Given the description of an element on the screen output the (x, y) to click on. 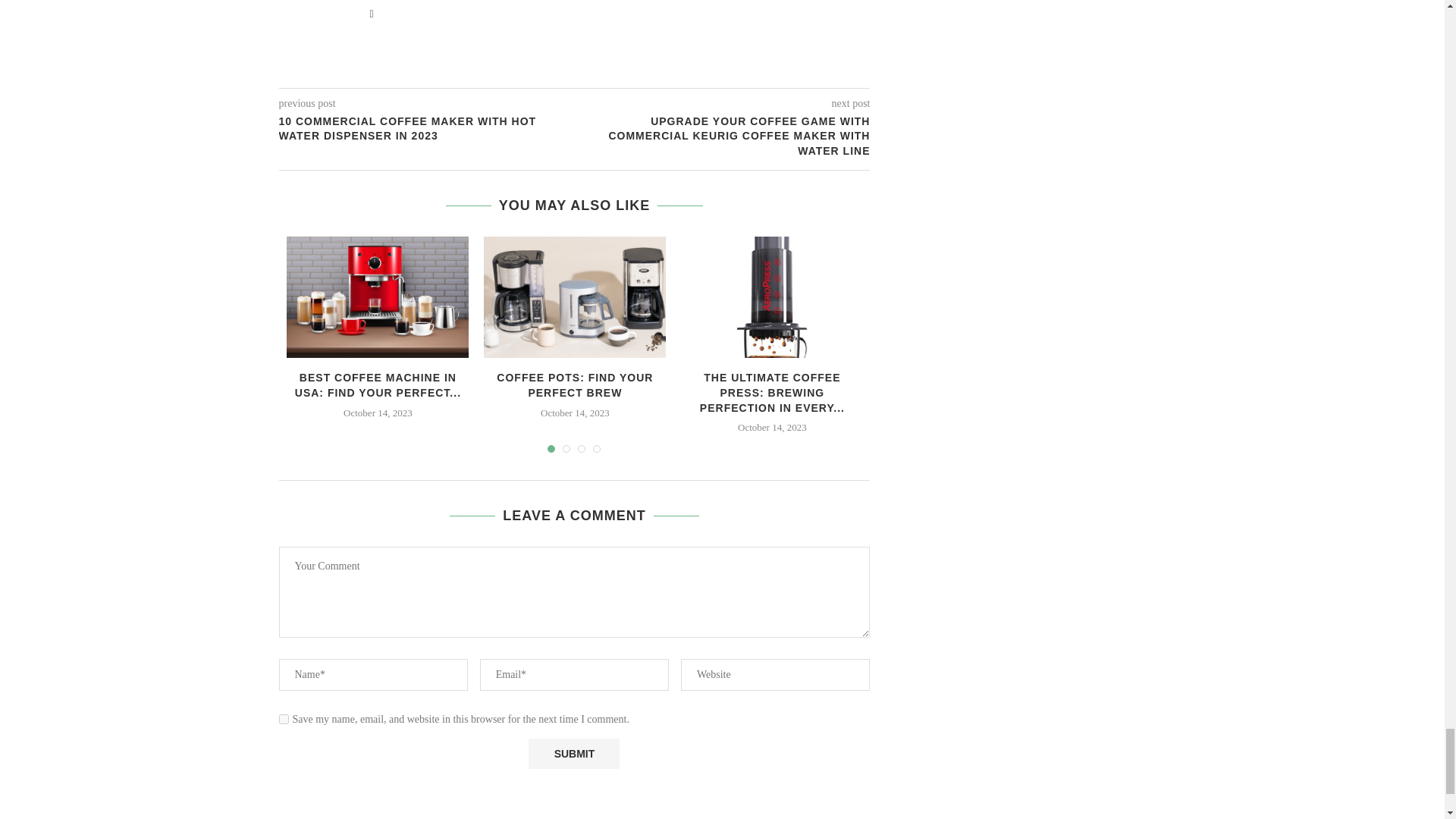
Submit (574, 753)
yes (283, 718)
